Given the description of an element on the screen output the (x, y) to click on. 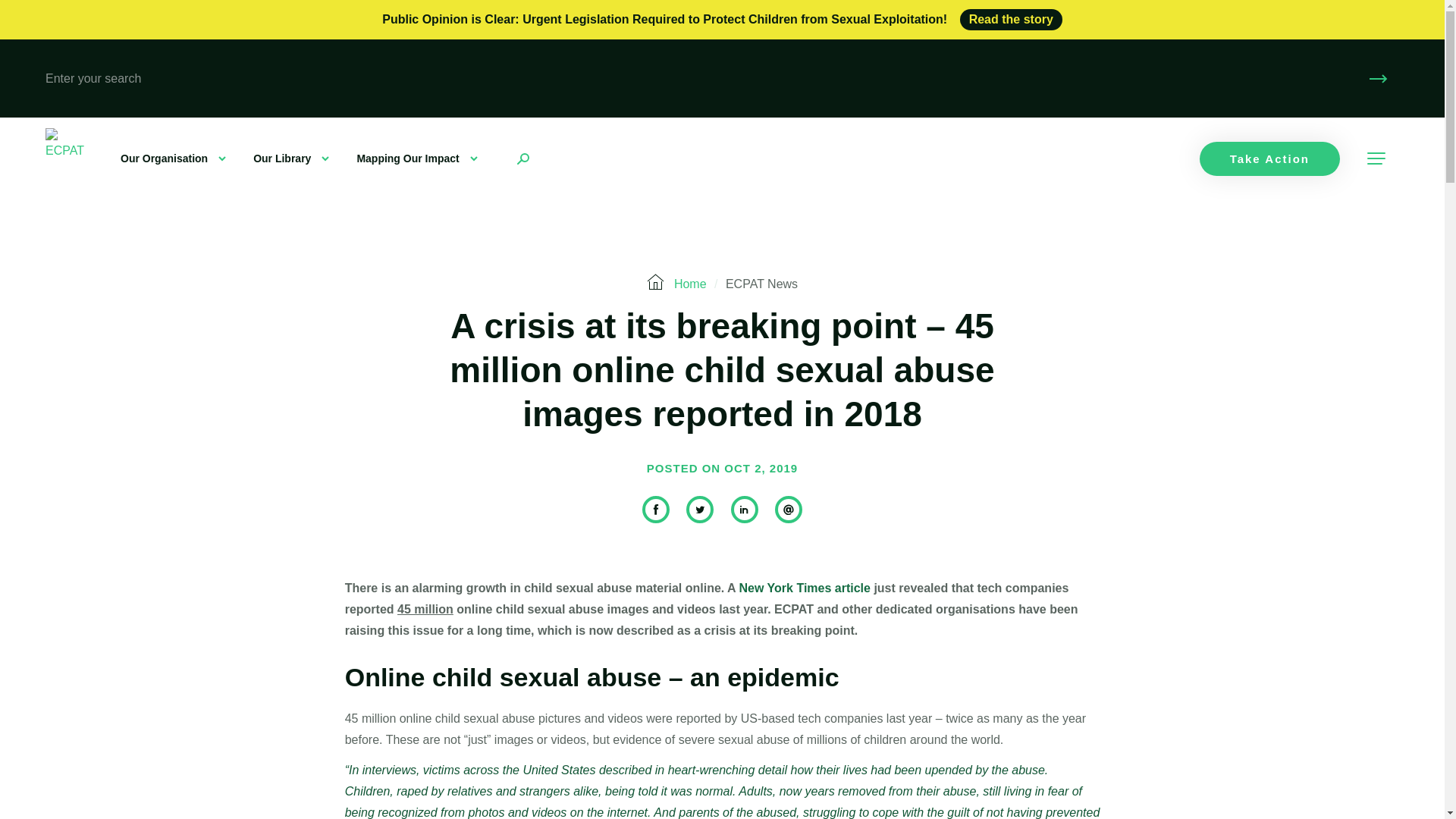
Take Action (1269, 157)
Read the story (1010, 19)
Home (690, 283)
Our Library (291, 158)
Our Organisation (172, 158)
Search (1378, 78)
Search (1378, 78)
Mapping Our Impact (416, 158)
